Given the description of an element on the screen output the (x, y) to click on. 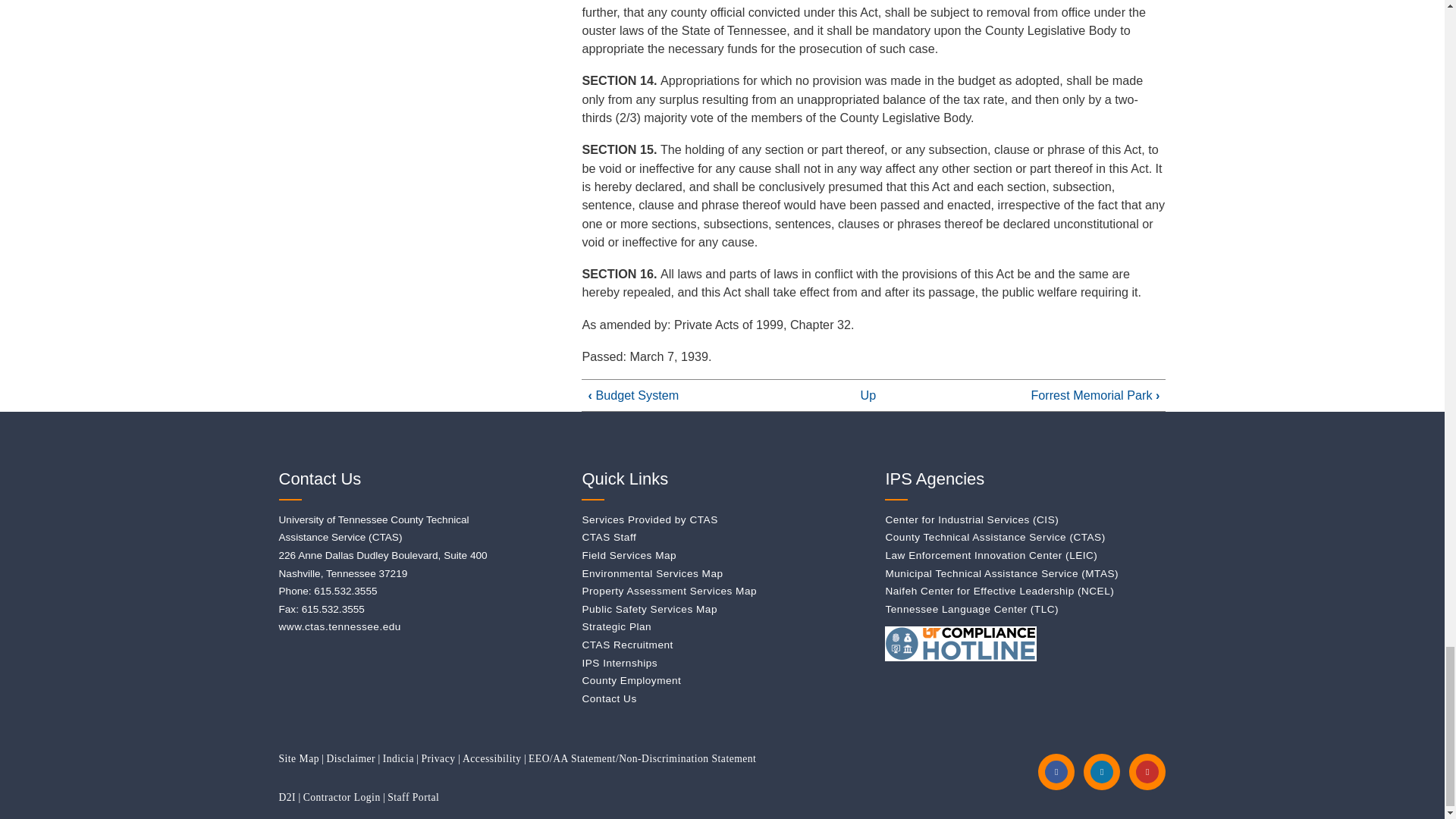
Go to previous page (633, 395)
Go to next page (1094, 395)
Go to parent page (868, 395)
